Given the description of an element on the screen output the (x, y) to click on. 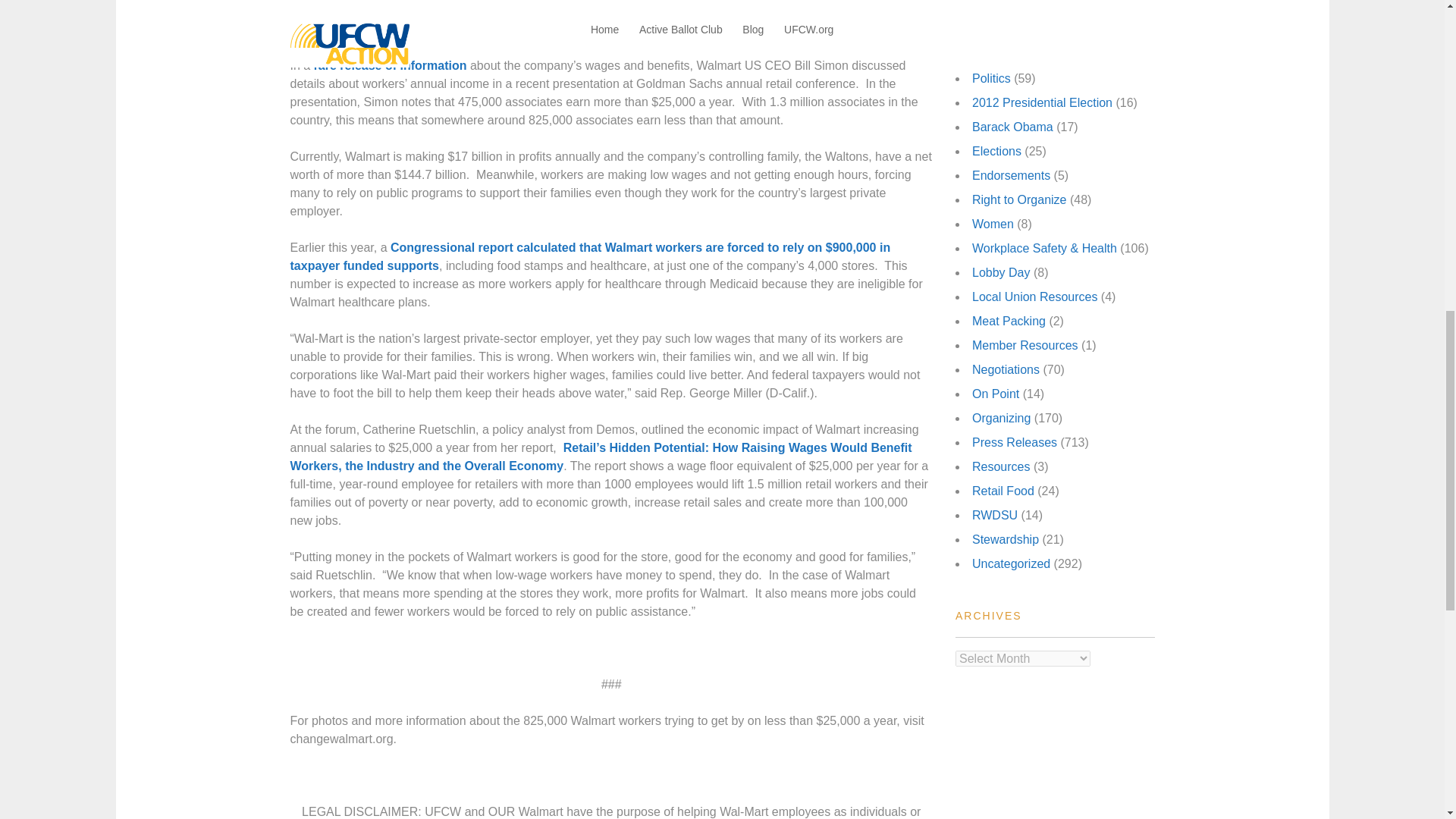
Legislation and Politics (1034, 29)
2012 Presidential Election (1042, 102)
Barack Obama (1012, 126)
Politics (991, 78)
Elections (997, 151)
LGBTQ (992, 53)
rare release of information (390, 65)
Immigration (1003, 6)
Endorsements (1010, 174)
